Given the description of an element on the screen output the (x, y) to click on. 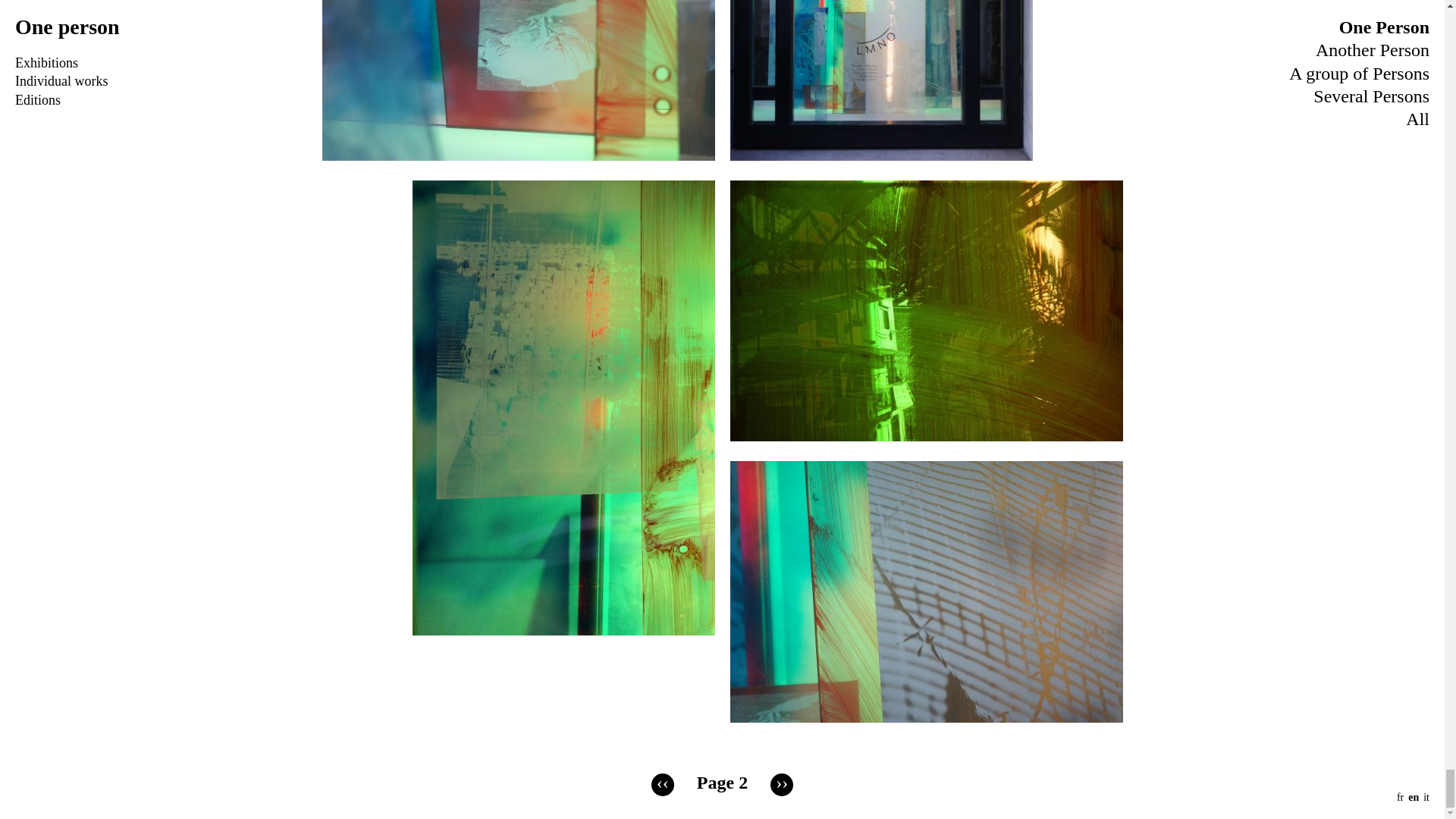
Go to next page (781, 784)
Go to previous page (662, 784)
